Given the description of an element on the screen output the (x, y) to click on. 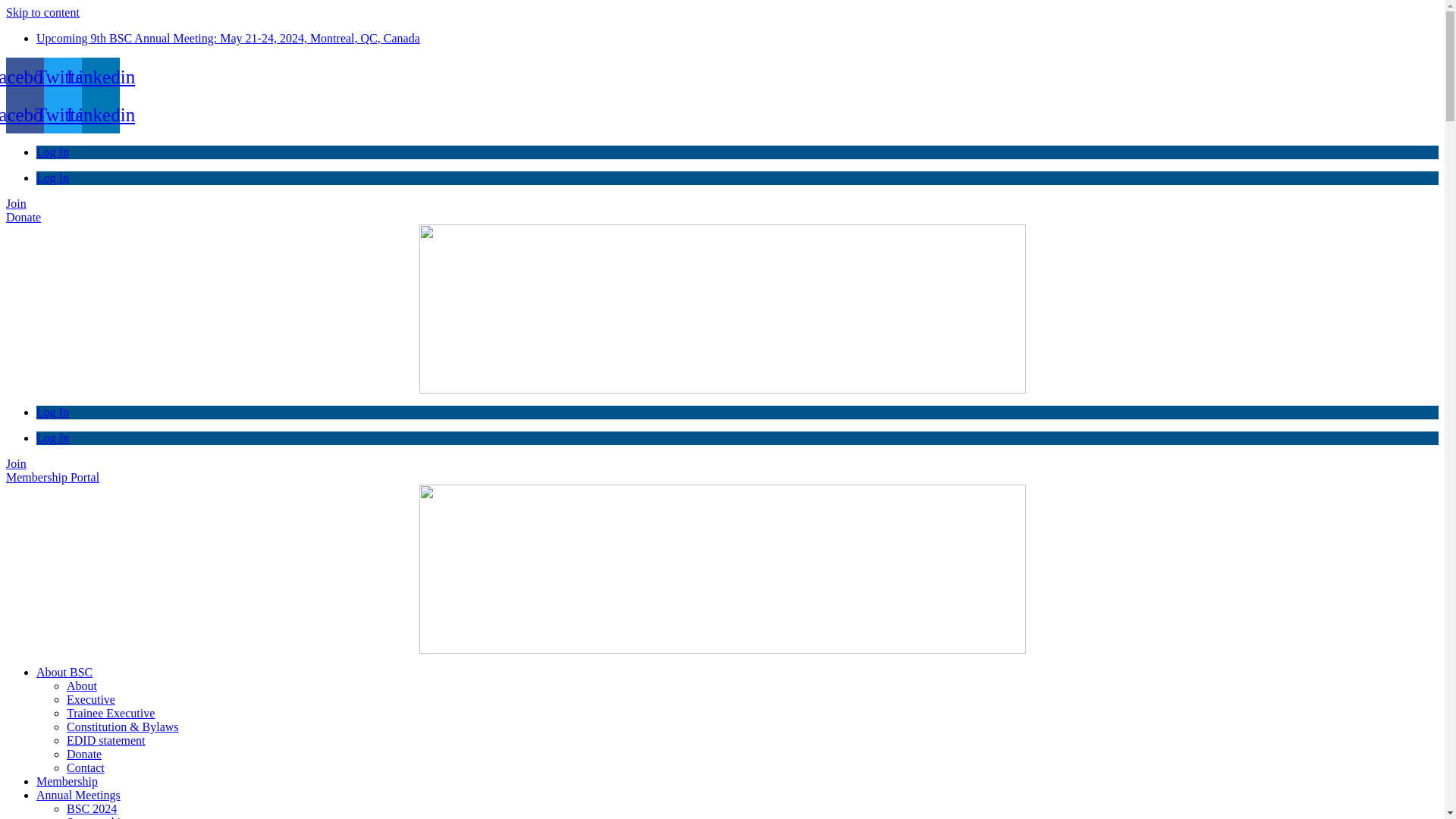
Log In Element type: text (52, 151)
Executive Element type: text (90, 699)
Join Element type: text (16, 203)
Linkedin Element type: text (100, 114)
Donate Element type: text (23, 216)
Trainee Executive Element type: text (110, 712)
Twitter Element type: text (62, 114)
Facebook Element type: text (24, 76)
Constitution & Bylaws Element type: text (122, 726)
Log In Element type: text (52, 177)
Log In Element type: text (52, 411)
Annual Meetings Element type: text (78, 794)
Membership Portal Element type: text (52, 476)
Twitter Element type: text (62, 76)
Linkedin Element type: text (100, 76)
Join Element type: text (16, 463)
Donate Element type: text (83, 753)
Log In Element type: text (52, 437)
BSC 2024 Element type: text (91, 808)
Facebook Element type: text (24, 114)
Skip to content Element type: text (42, 12)
About BSC Element type: text (64, 671)
About Element type: text (81, 685)
EDID statement Element type: text (105, 740)
Contact Element type: text (85, 767)
Membership Element type: text (66, 781)
